Given the description of an element on the screen output the (x, y) to click on. 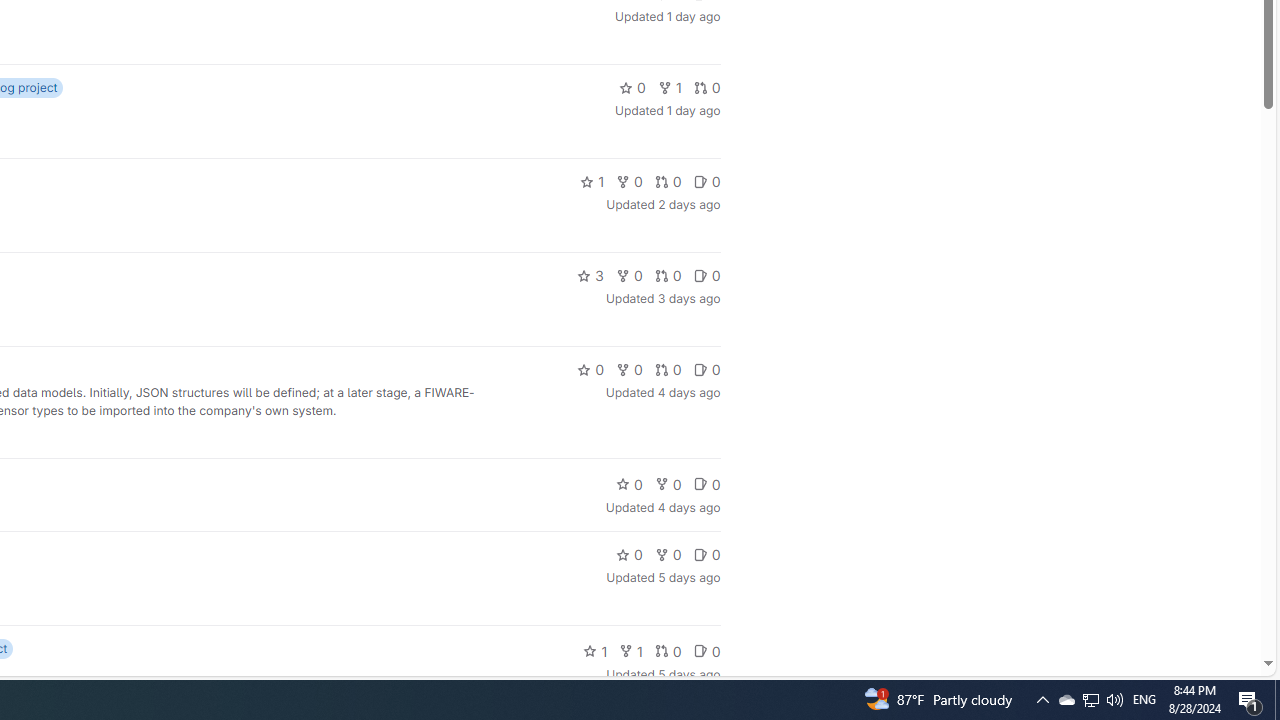
3 (590, 275)
1 (630, 650)
Class: s14 gl-mr-2 (699, 650)
0 (706, 650)
